Given the description of an element on the screen output the (x, y) to click on. 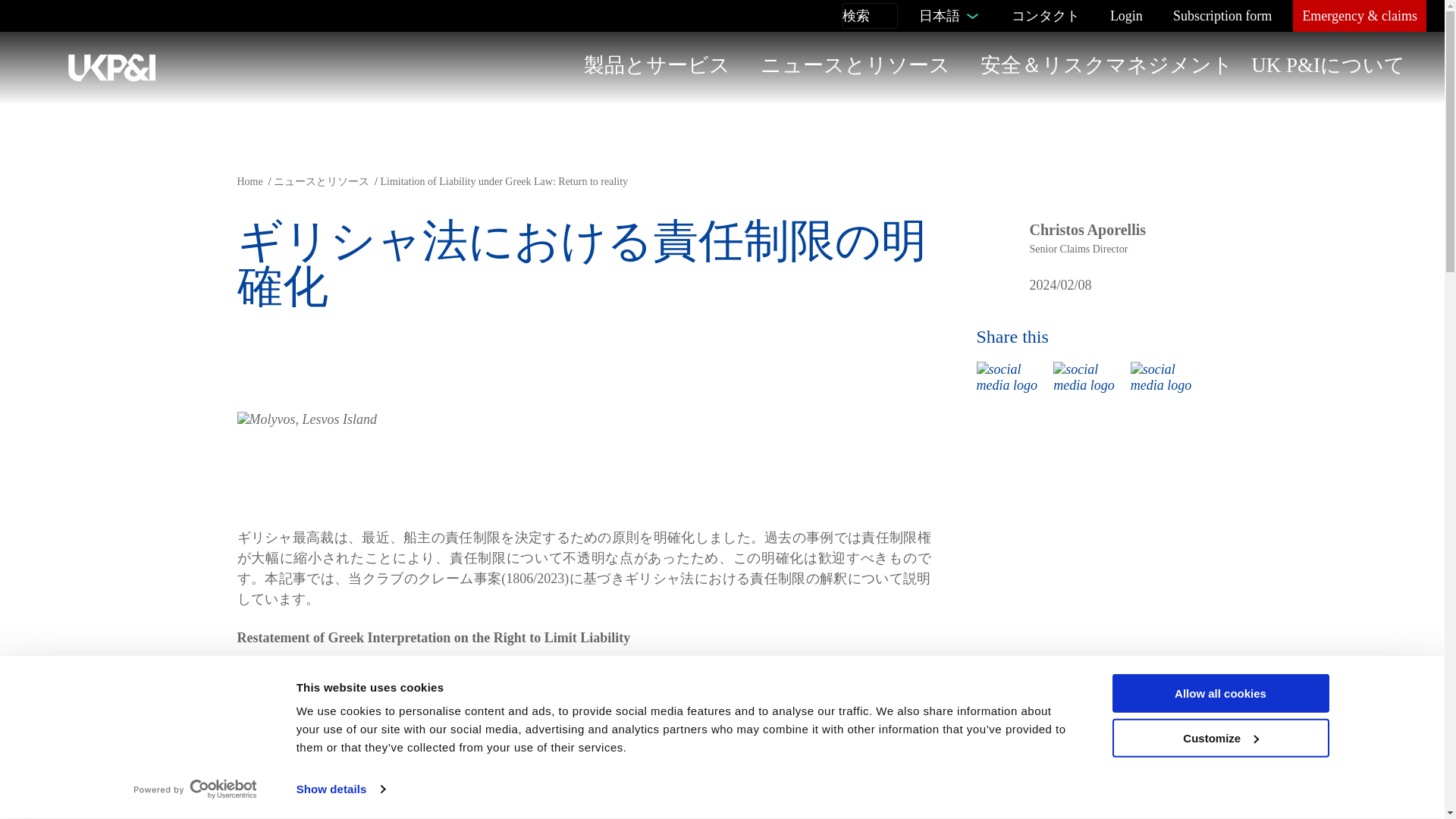
Allow all cookies (1219, 693)
Show details (340, 789)
Customize (1219, 738)
